Given the description of an element on the screen output the (x, y) to click on. 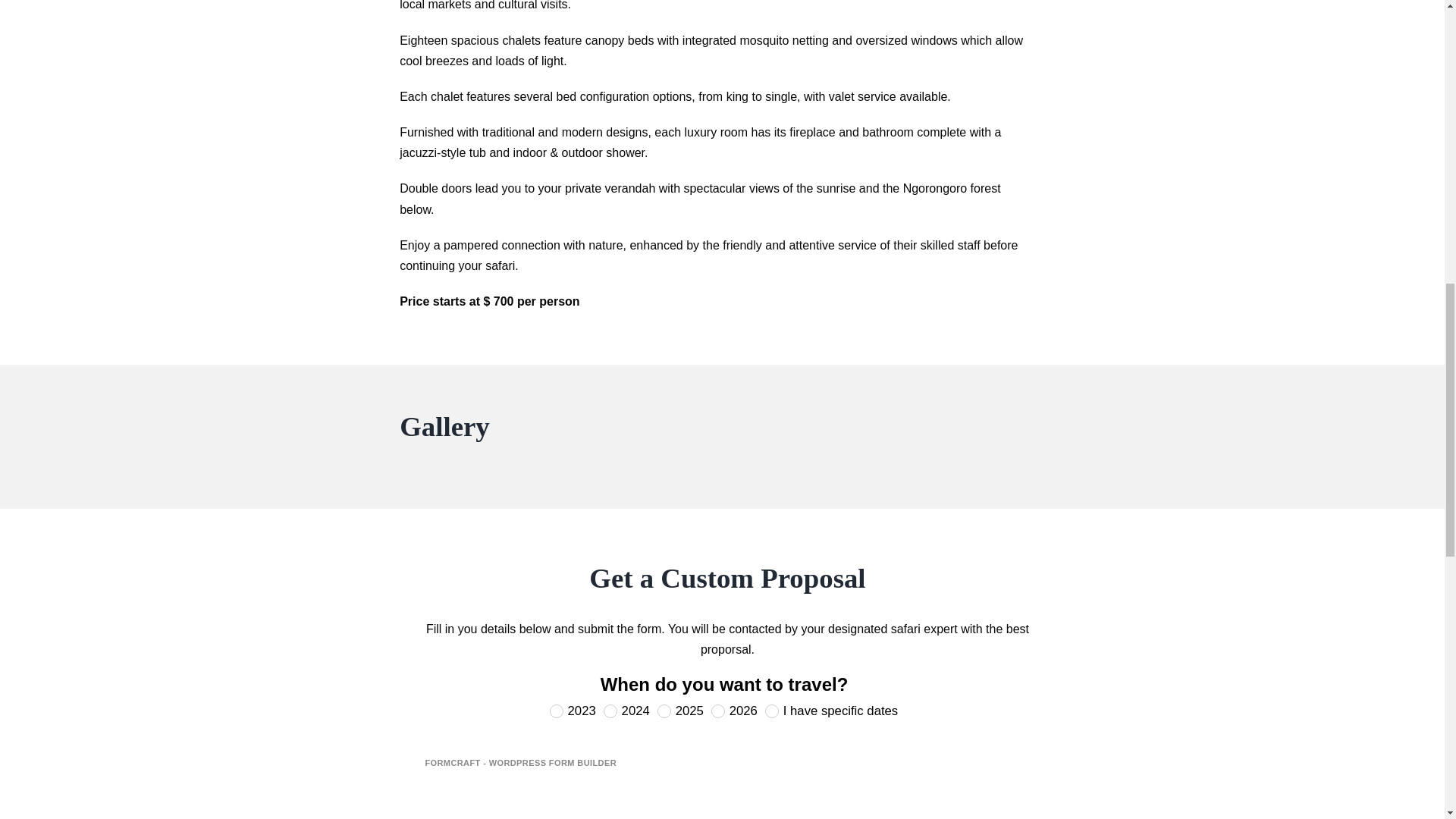
2025 (664, 711)
I have specific dates (771, 711)
2023 (556, 711)
2024 (610, 711)
2026 (718, 711)
